Given the description of an element on the screen output the (x, y) to click on. 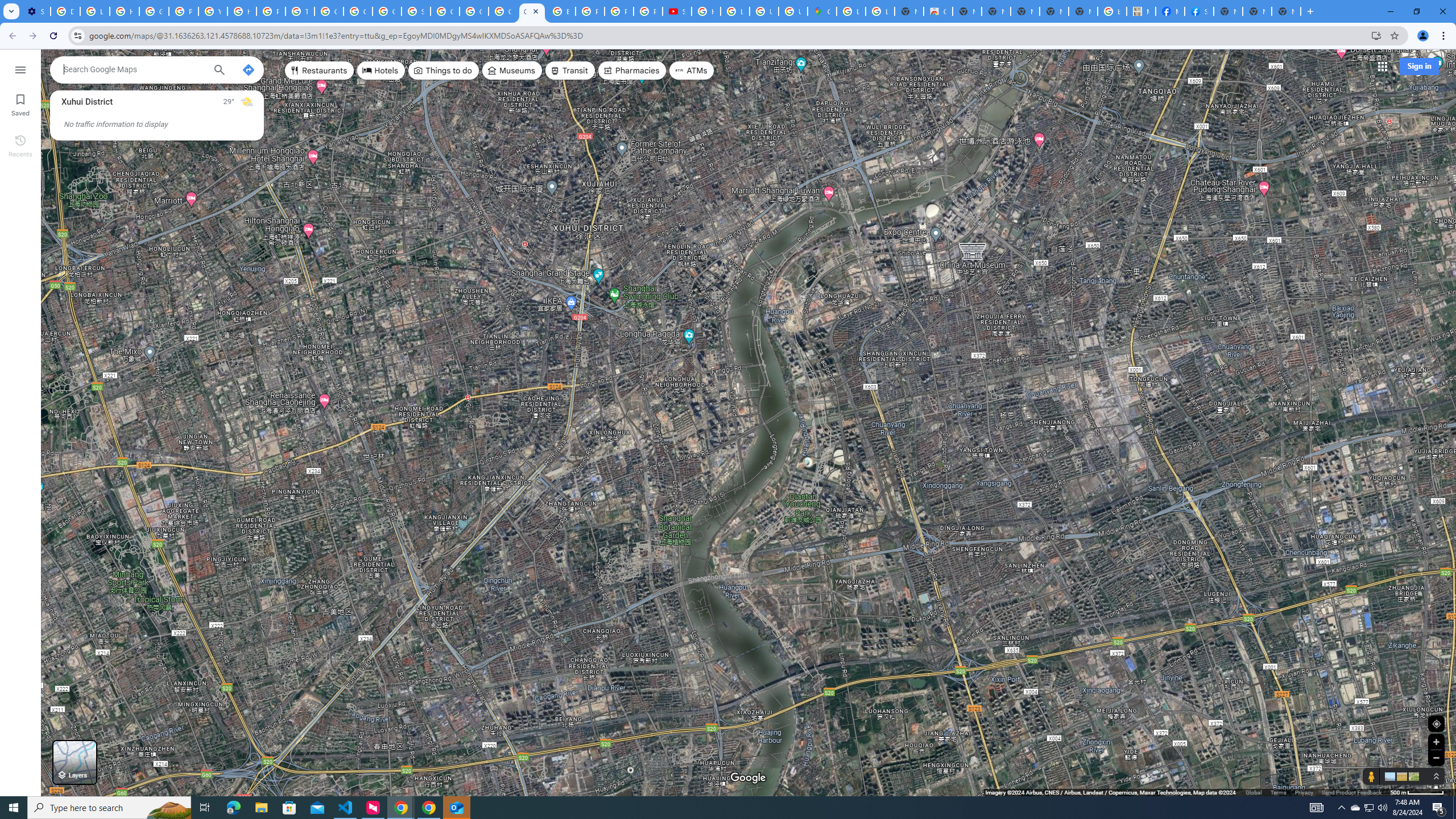
MILEY CYRUS. (1140, 11)
Global (1253, 792)
Blogger Policies and Guidelines - Transparency Center (560, 11)
Things to do (443, 70)
Saved (20, 104)
Show Your Location (1436, 723)
